Given the description of an element on the screen output the (x, y) to click on. 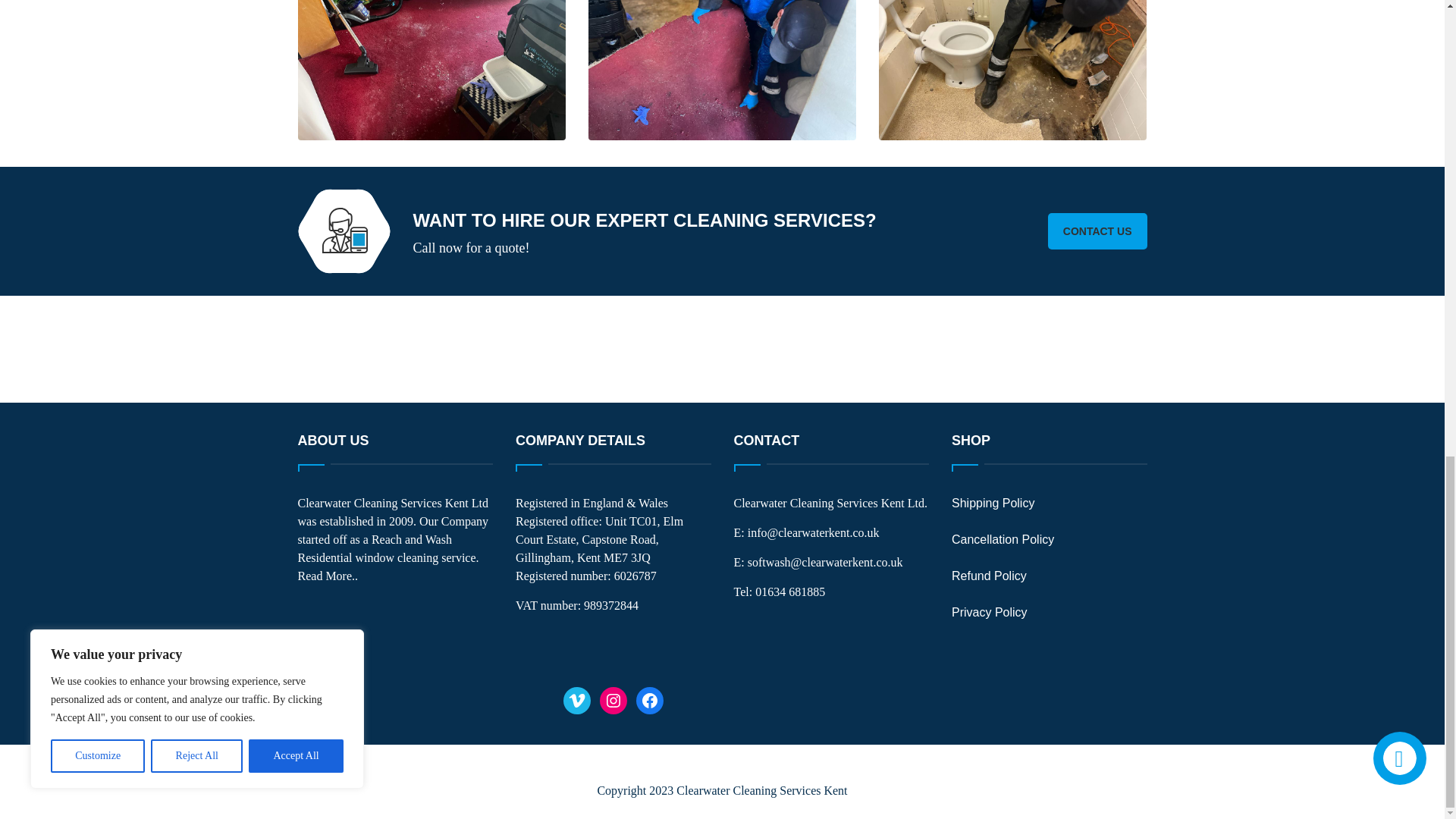
Cancellation Policy (1003, 539)
Shipping Policy (992, 502)
Refund Policy (989, 575)
Facebook (649, 700)
Vimeo (577, 700)
CONTACT US (1097, 230)
Instagram (613, 700)
Privacy Policy (989, 612)
